Given the description of an element on the screen output the (x, y) to click on. 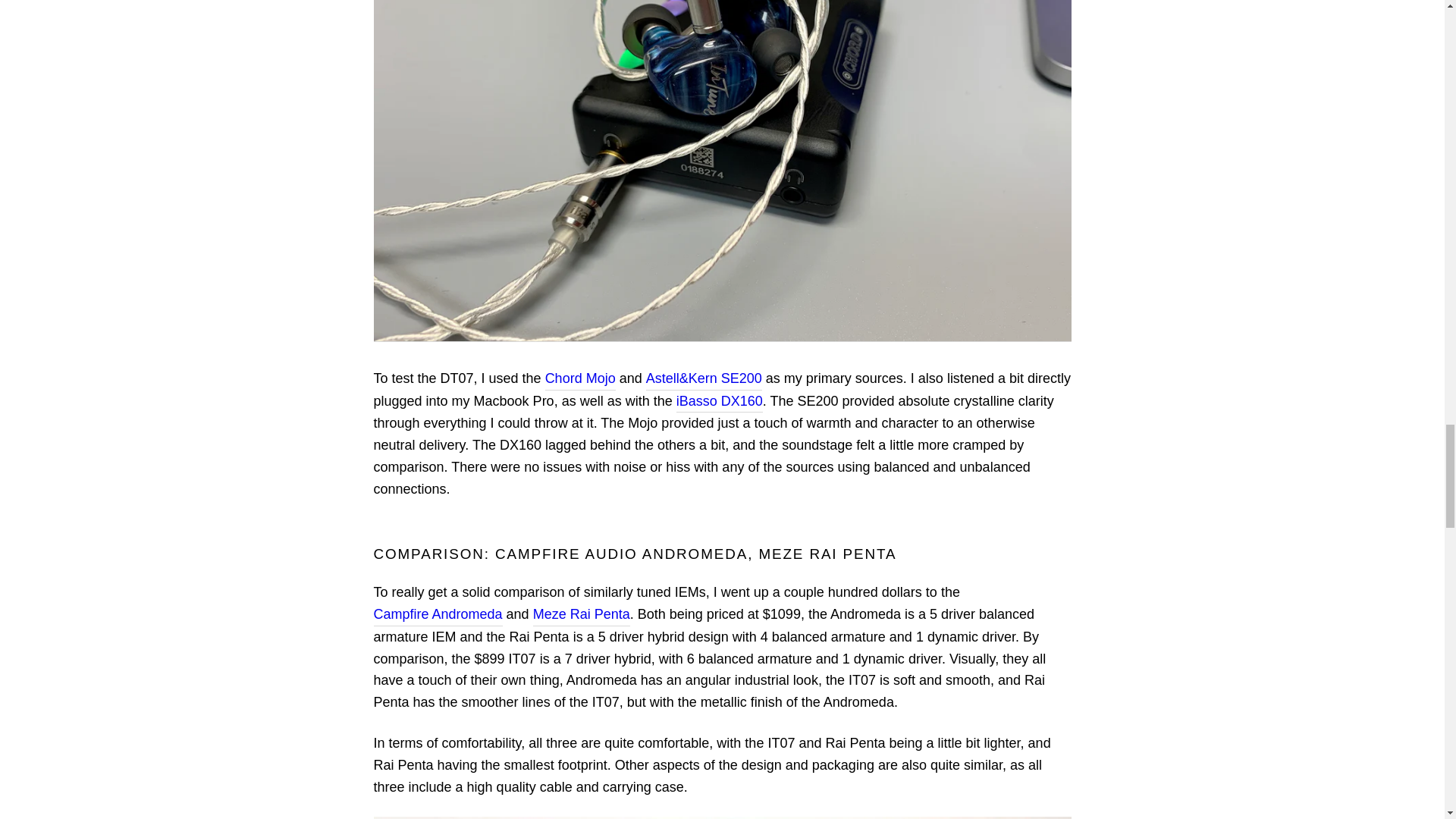
Campfire Audio Andromeda (437, 614)
iBasso DX160 (719, 401)
Meze Audio Rai Penta (581, 614)
Chord Mojo (579, 378)
